Given the description of an element on the screen output the (x, y) to click on. 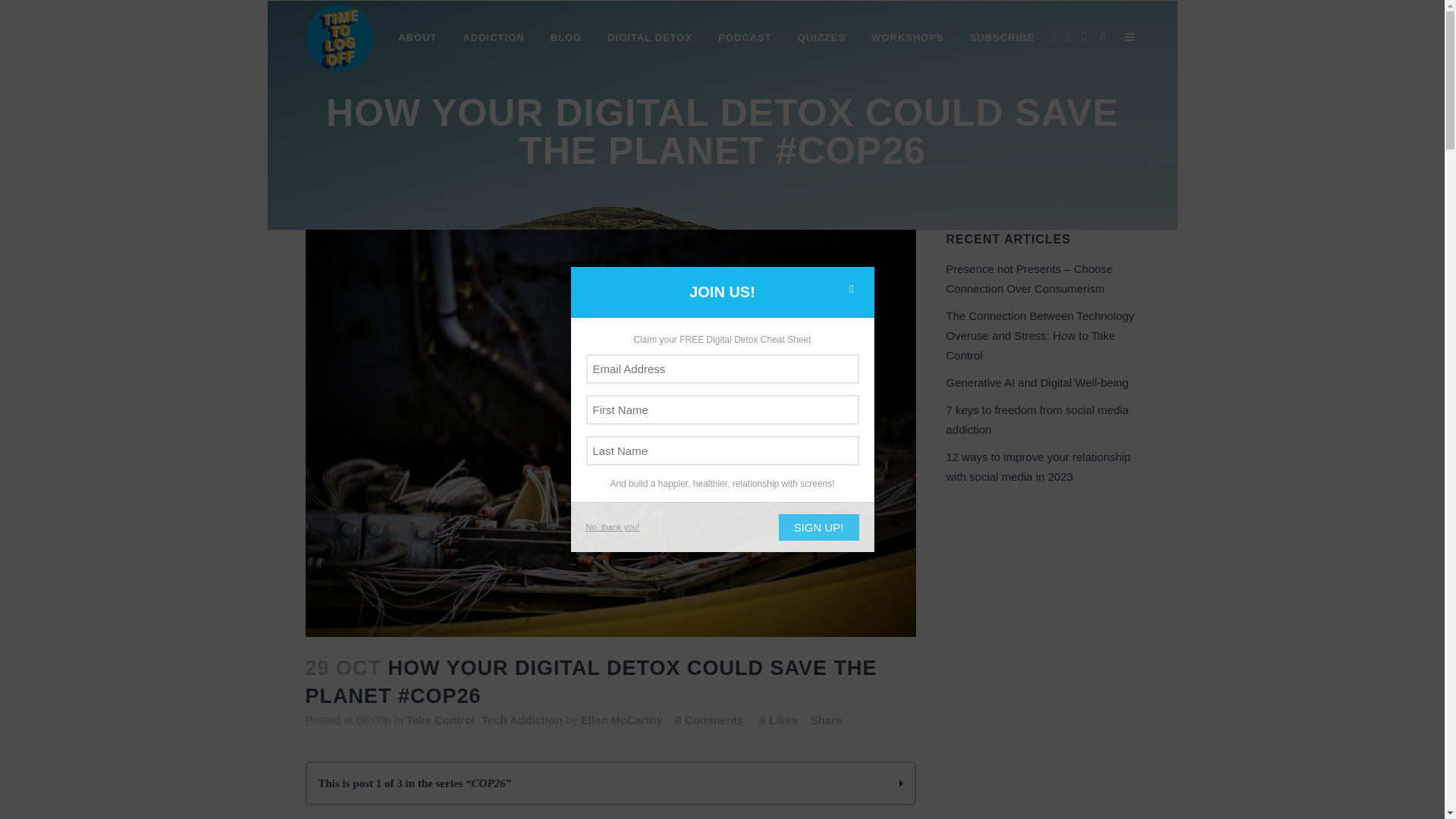
ADDICTION (493, 38)
QUIZZES (821, 38)
PODCAST (744, 38)
Like this (777, 719)
DIGITAL DETOX (649, 38)
